Given the description of an element on the screen output the (x, y) to click on. 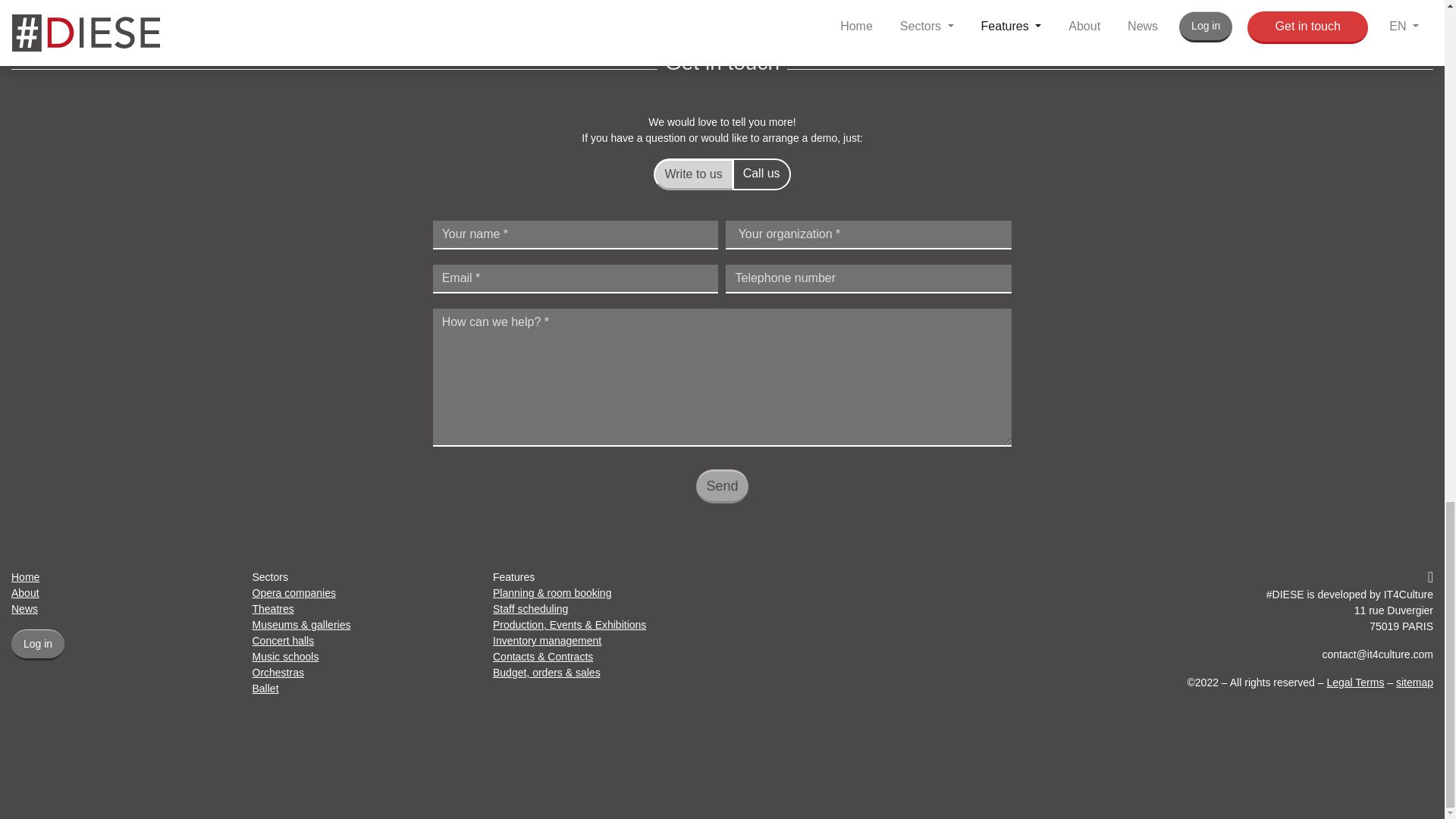
on (747, 169)
Theatres (272, 608)
News (24, 608)
About (25, 592)
Log in (37, 644)
Opera companies (293, 592)
Orchestras (276, 672)
Home (25, 576)
Send (721, 486)
on (668, 170)
